Given the description of an element on the screen output the (x, y) to click on. 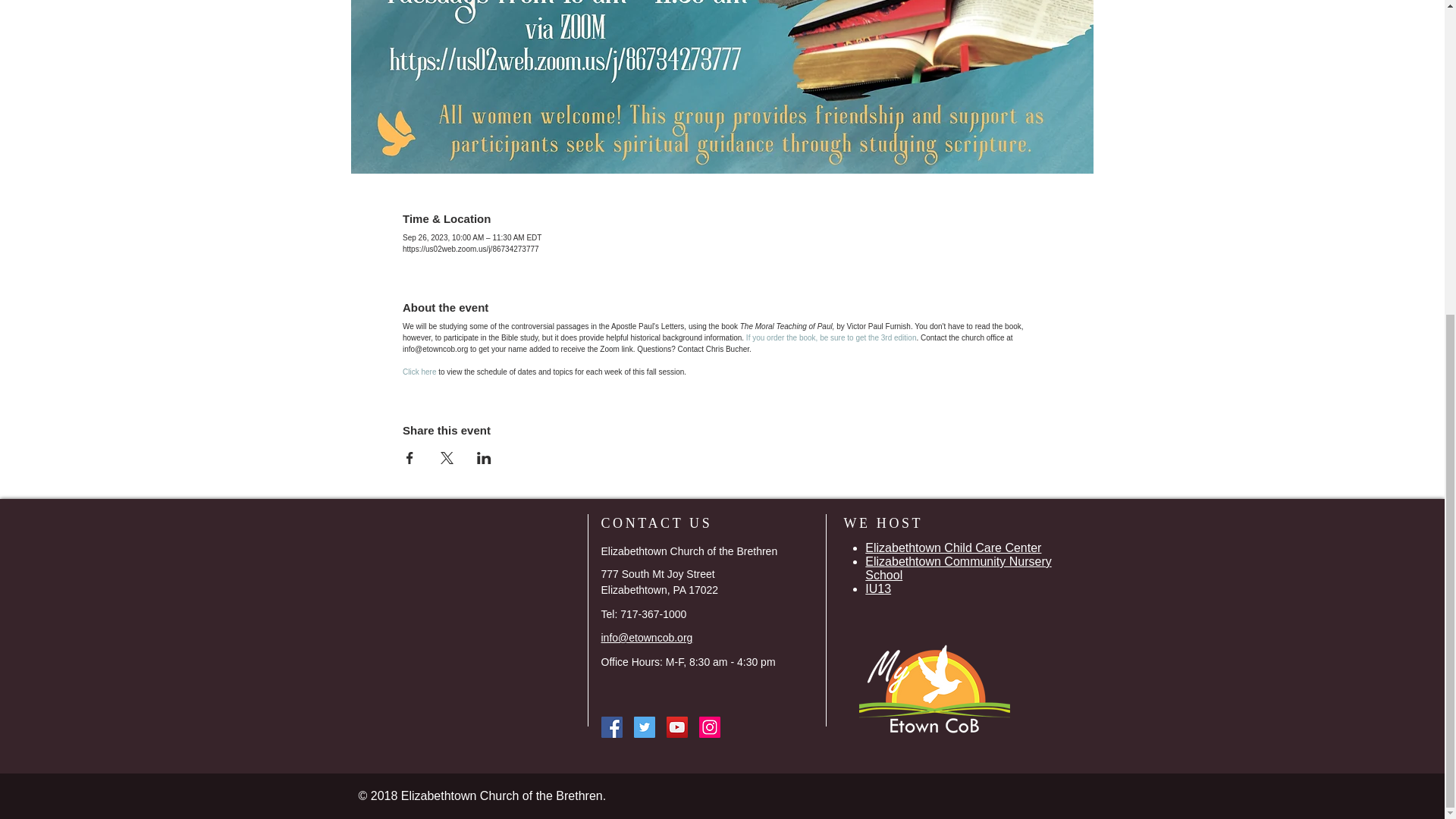
Elizabethtown Child Care Center (952, 547)
Google Maps (465, 620)
Elizabethtown Community Nursery School (957, 568)
If you order the book, be sure to get the 3rd edition (831, 337)
Click here (419, 371)
IU13 (877, 588)
